Given the description of an element on the screen output the (x, y) to click on. 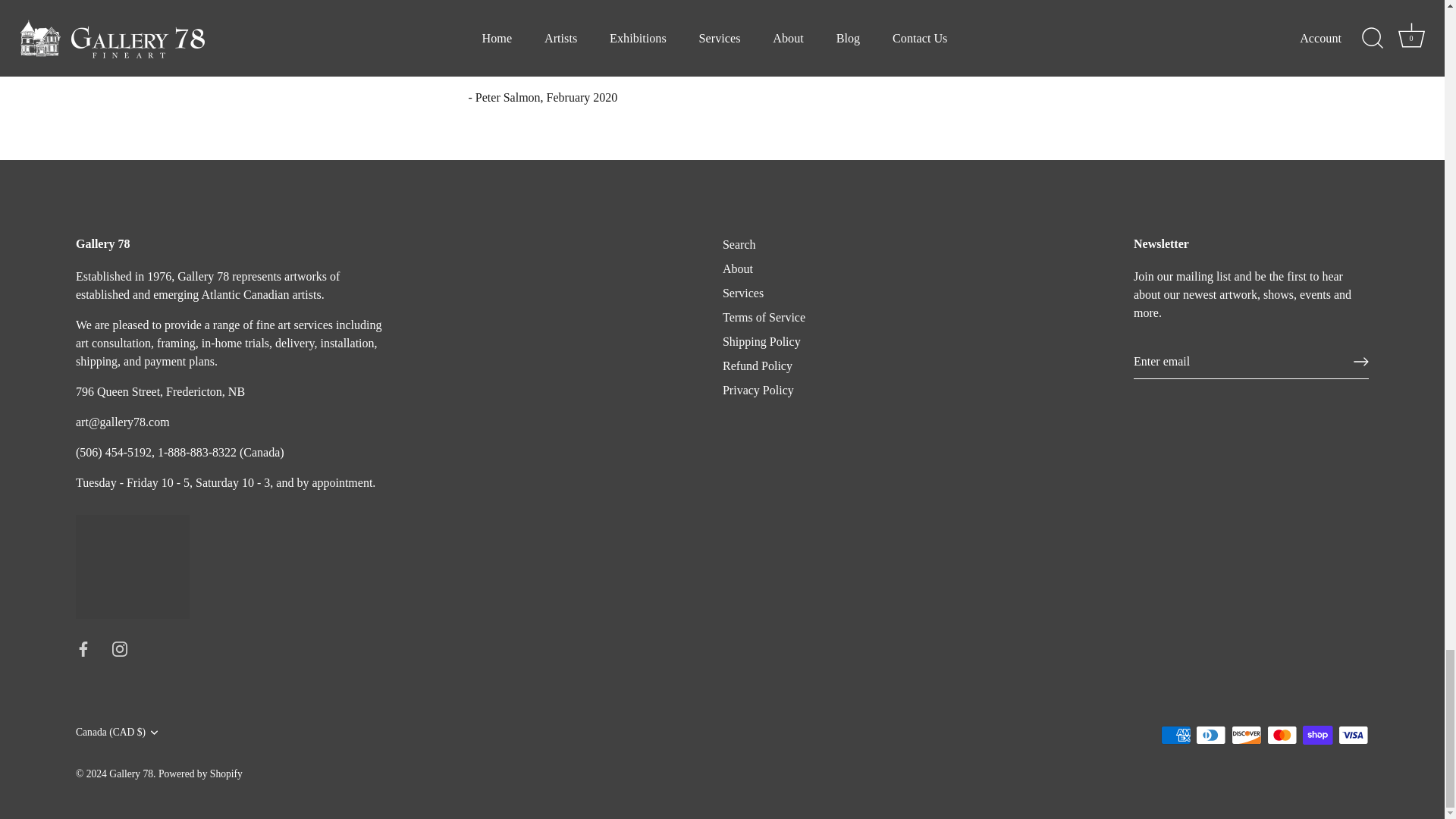
Visa (1353, 734)
Shop Pay (1317, 734)
American Express (1174, 734)
Diners Club (1210, 734)
RIGHT ARROW LONG (1361, 361)
Discover (1245, 734)
Instagram (120, 648)
Mastercard (1281, 734)
